Given the description of an element on the screen output the (x, y) to click on. 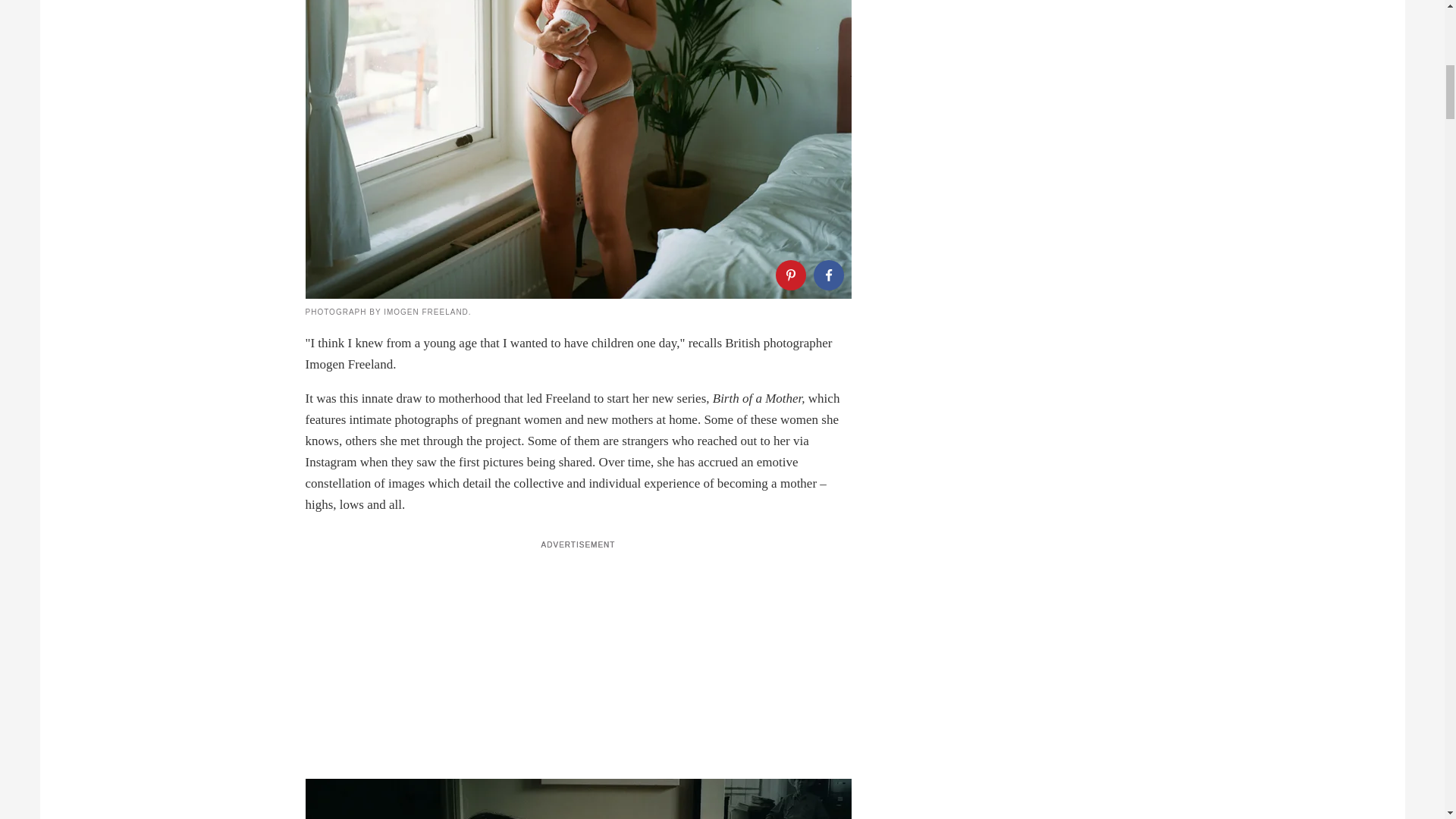
Share on Pinterest (789, 275)
Share on Facebook (827, 275)
